Given the description of an element on the screen output the (x, y) to click on. 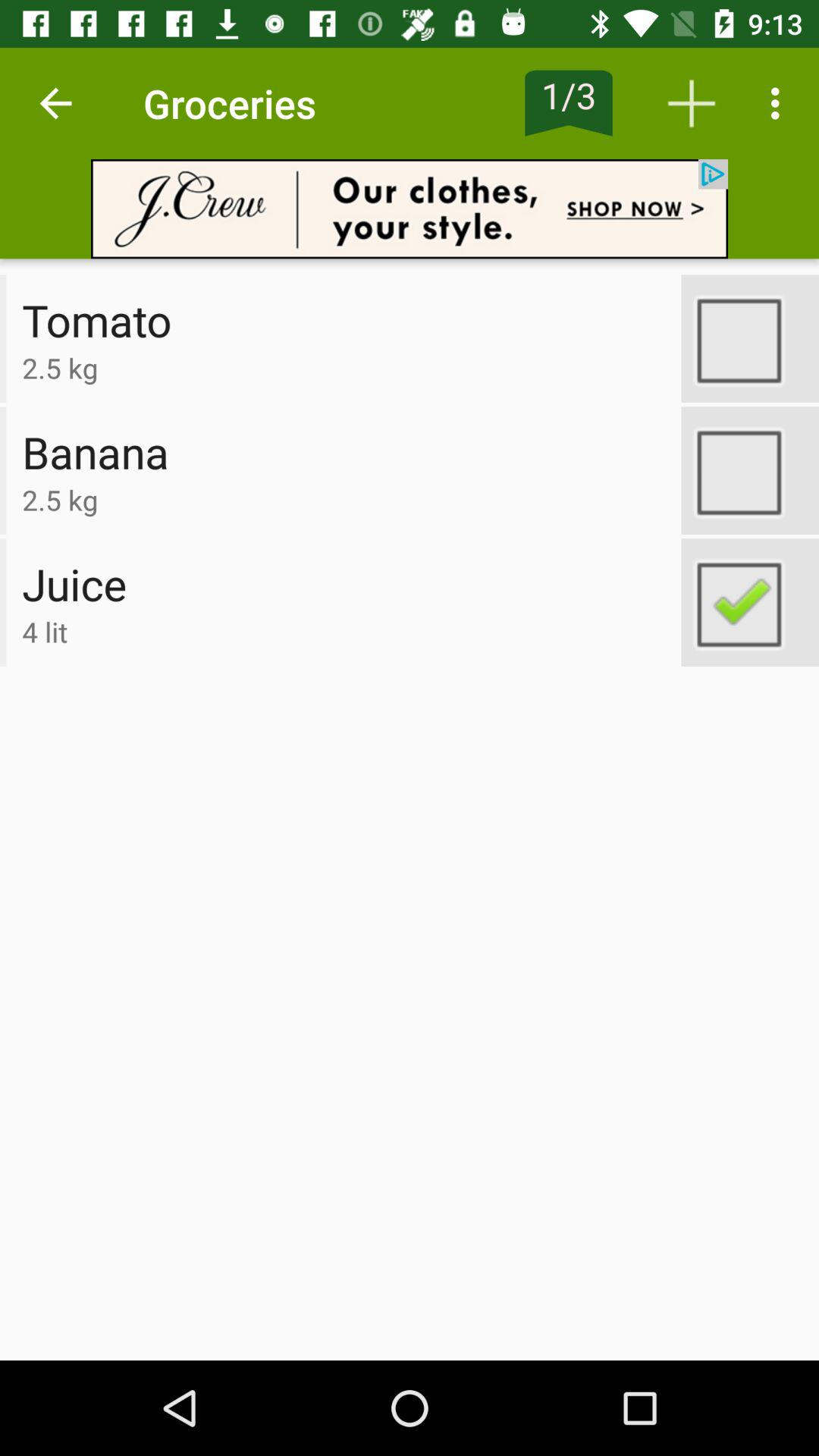
select banana (750, 470)
